Given the description of an element on the screen output the (x, y) to click on. 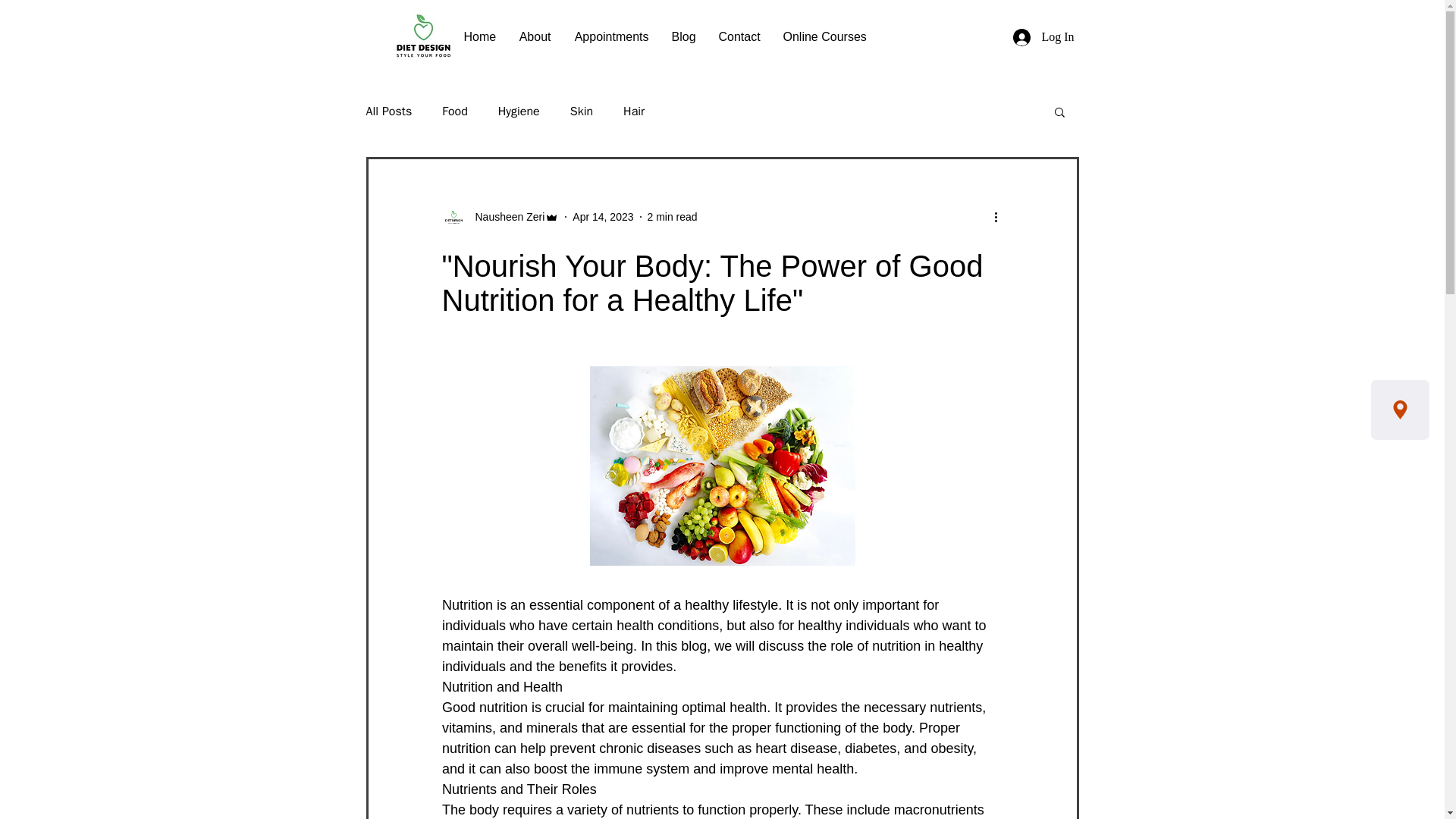
2 min read (672, 216)
Nausheen Zeri (500, 216)
Contact (738, 37)
Home (478, 37)
Hair (634, 110)
Appointments (611, 37)
Food (454, 110)
Log In (1043, 37)
Hygiene (518, 110)
All Posts (388, 110)
